Given the description of an element on the screen output the (x, y) to click on. 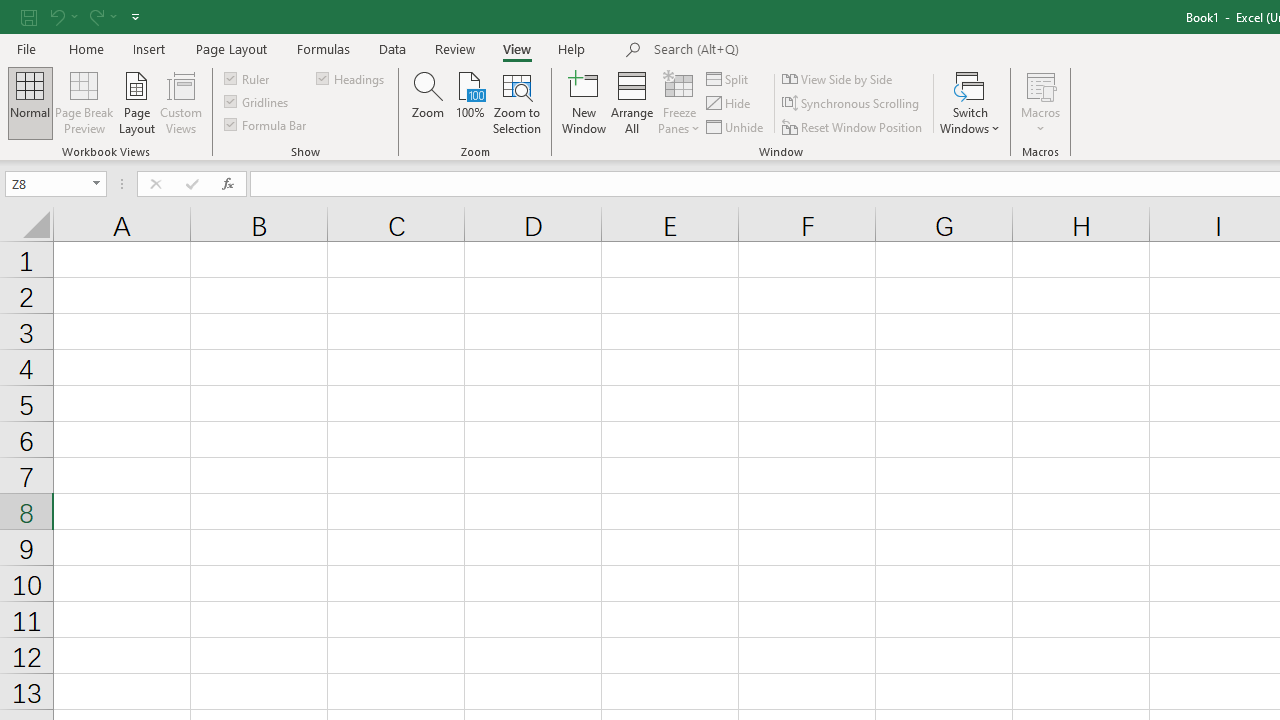
View Macros (1040, 84)
Switch Windows (970, 102)
Gridlines (257, 101)
100% (470, 102)
Split (728, 78)
New Window (584, 102)
